Given the description of an element on the screen output the (x, y) to click on. 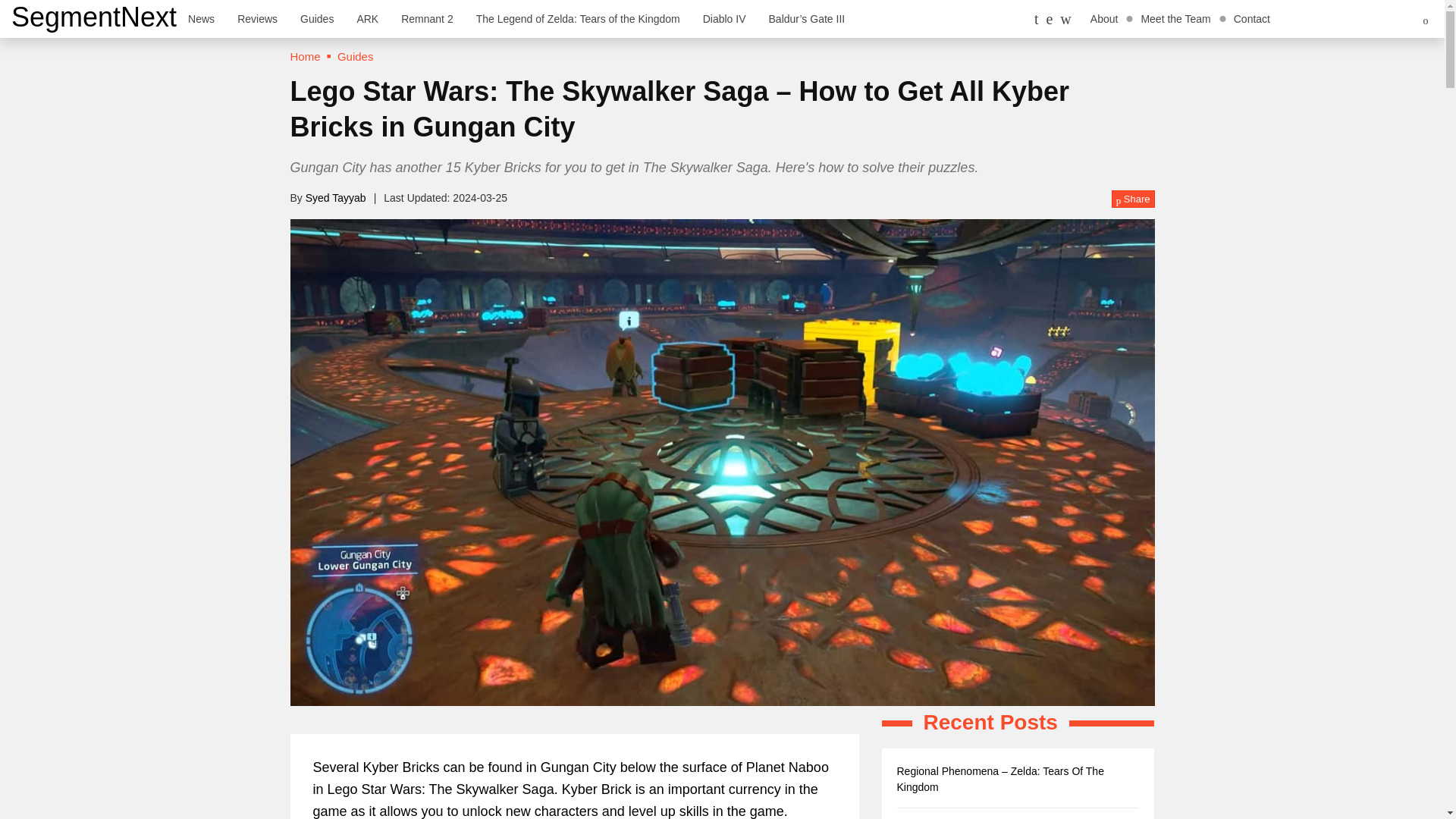
Reviews (256, 18)
Home (304, 56)
Meet the Team (1175, 18)
Contact (1252, 18)
Diablo IV (724, 18)
Guides (316, 18)
Guides (316, 18)
SegmentNext (93, 16)
The Legend of Zelda: Tears of the Kingdom (577, 18)
About (1103, 18)
Reviews (256, 18)
Remnant 2 (427, 18)
The Legend of Zelda: Tears of the Kingdom (577, 18)
ARK (367, 18)
About (1103, 18)
